Given the description of an element on the screen output the (x, y) to click on. 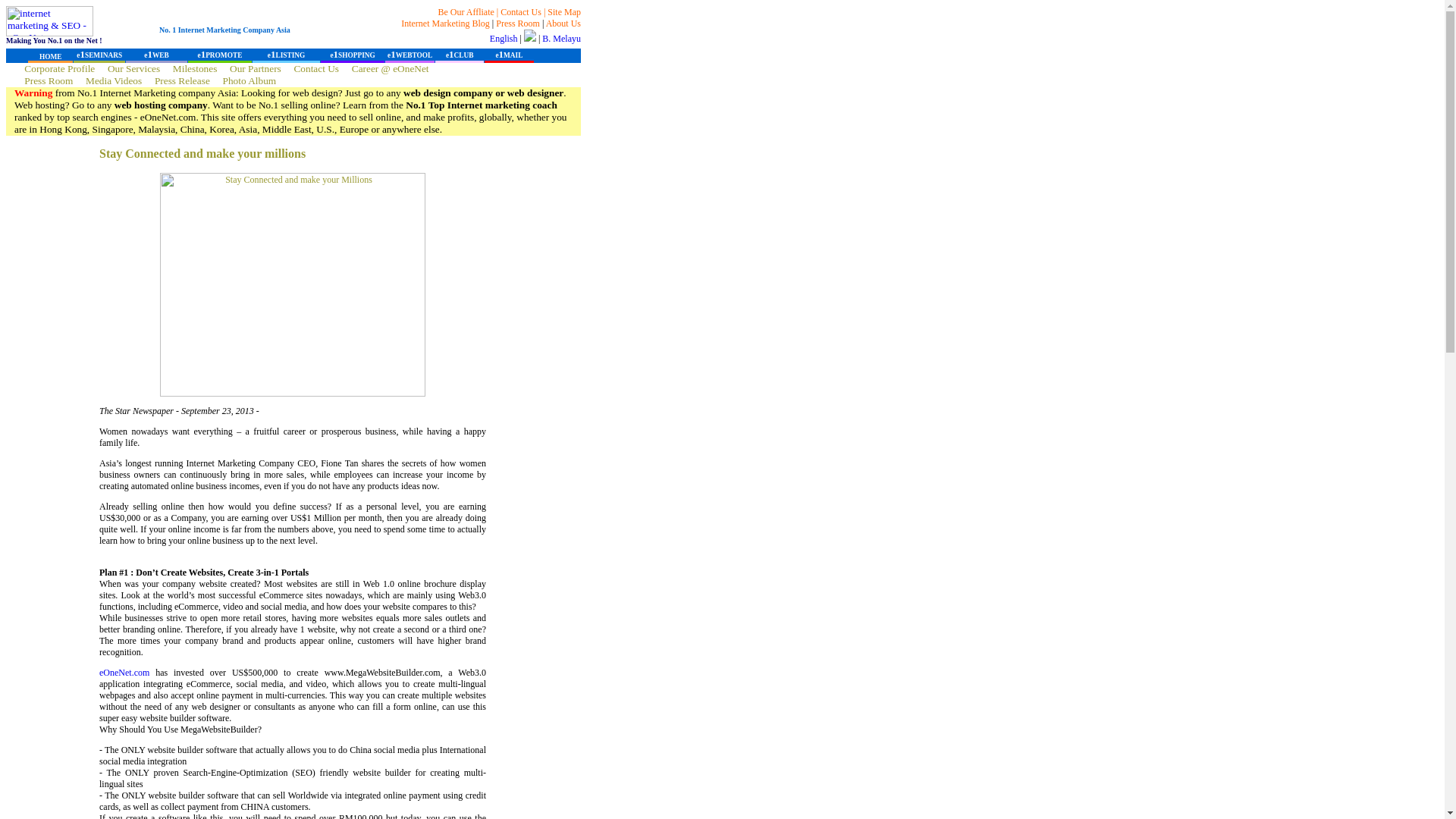
Internet Marketing Blog (445, 23)
B. Melayu (560, 38)
e1MAIL (508, 54)
e1SHOPPING (352, 54)
About Us (563, 23)
HOME (50, 56)
Milestones (194, 68)
Our Services (133, 68)
e1CLUB (459, 54)
Press Room (48, 80)
